Given the description of an element on the screen output the (x, y) to click on. 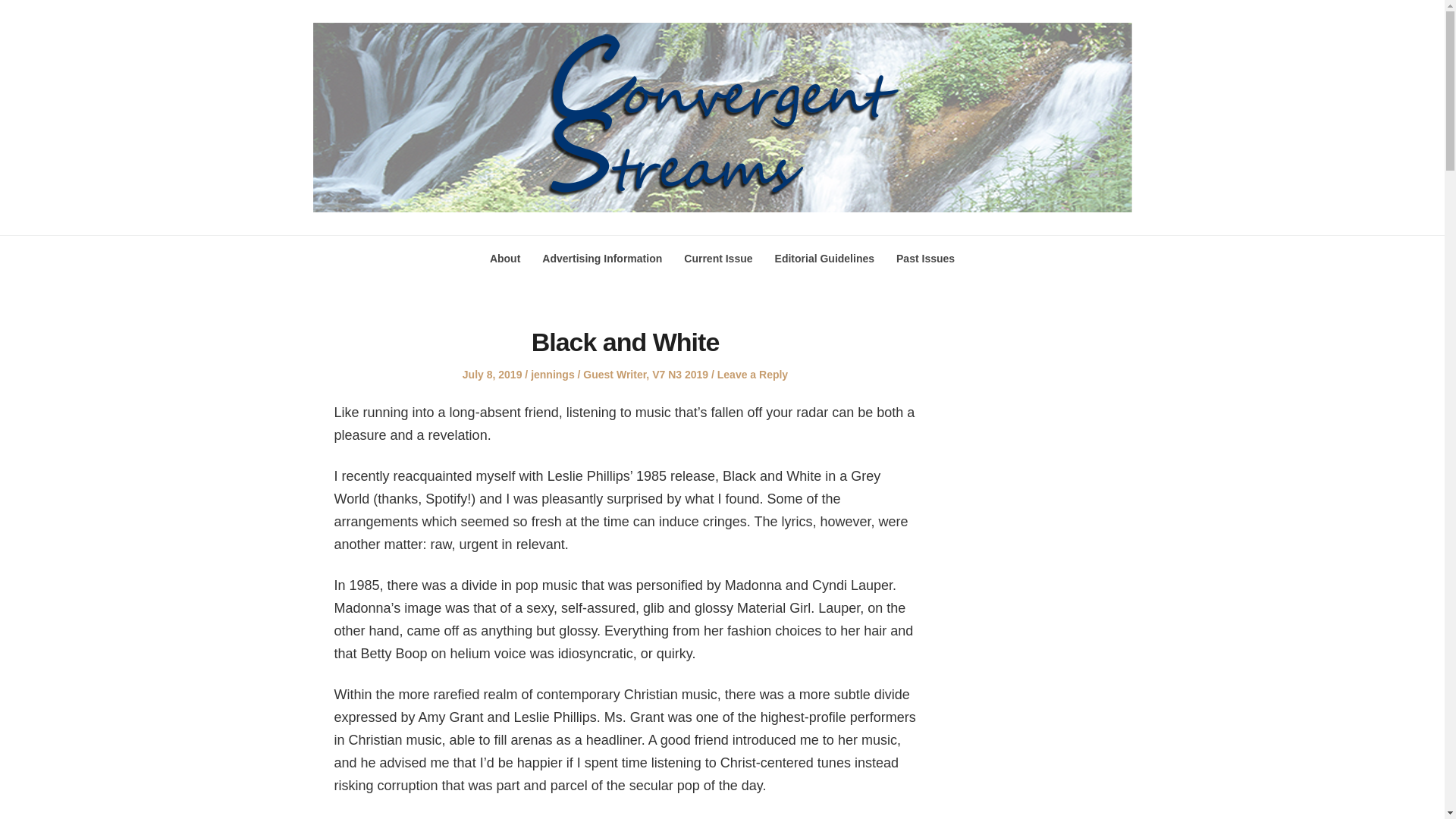
V7 N3 2019 (679, 374)
Leave a Reply (752, 374)
Convergent Streams (348, 242)
jennings (553, 374)
About (504, 258)
Guest Writer (614, 374)
Past Issues (925, 258)
Advertising Information (601, 258)
July 8, 2019 (492, 374)
Current Issue (718, 258)
Editorial Guidelines (824, 258)
